Given the description of an element on the screen output the (x, y) to click on. 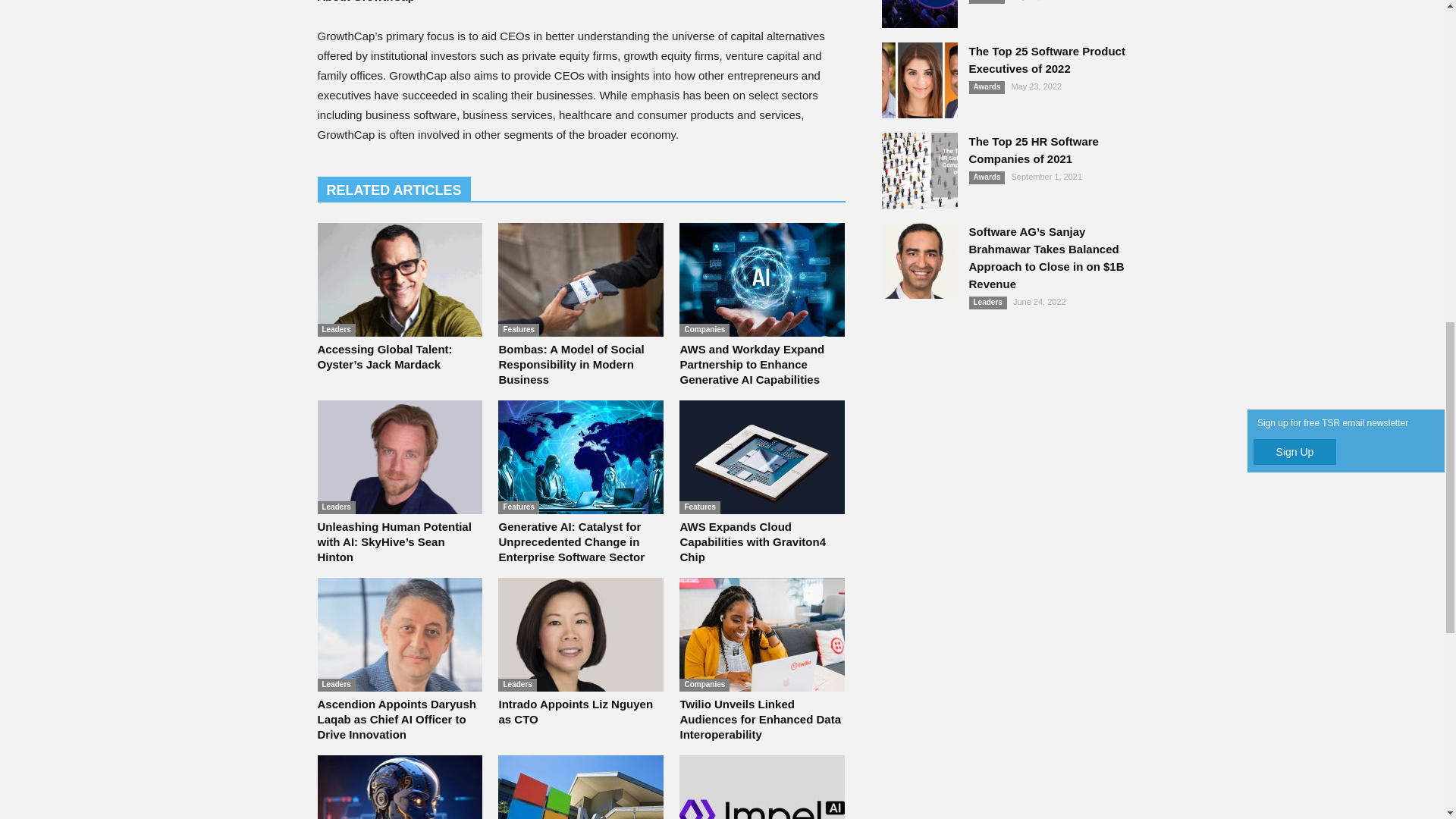
RedLaser: Price Comparison iPhone App (465, 187)
Email address (1005, 121)
RedLaser: Price Comparison iPhone App (465, 187)
Worrying Figures from FSA Report (449, 236)
No Caller ID: A Growing Threat to UK Consumers (1008, 778)
New Life Insurance Search Tool (442, 286)
Subscribe (1005, 149)
NEW BRITISH COINS REVEALED: WHAT DO YOU THINK? (701, 572)
Stop Throwing Away So Much Food: Save Money (486, 138)
